Given the description of an element on the screen output the (x, y) to click on. 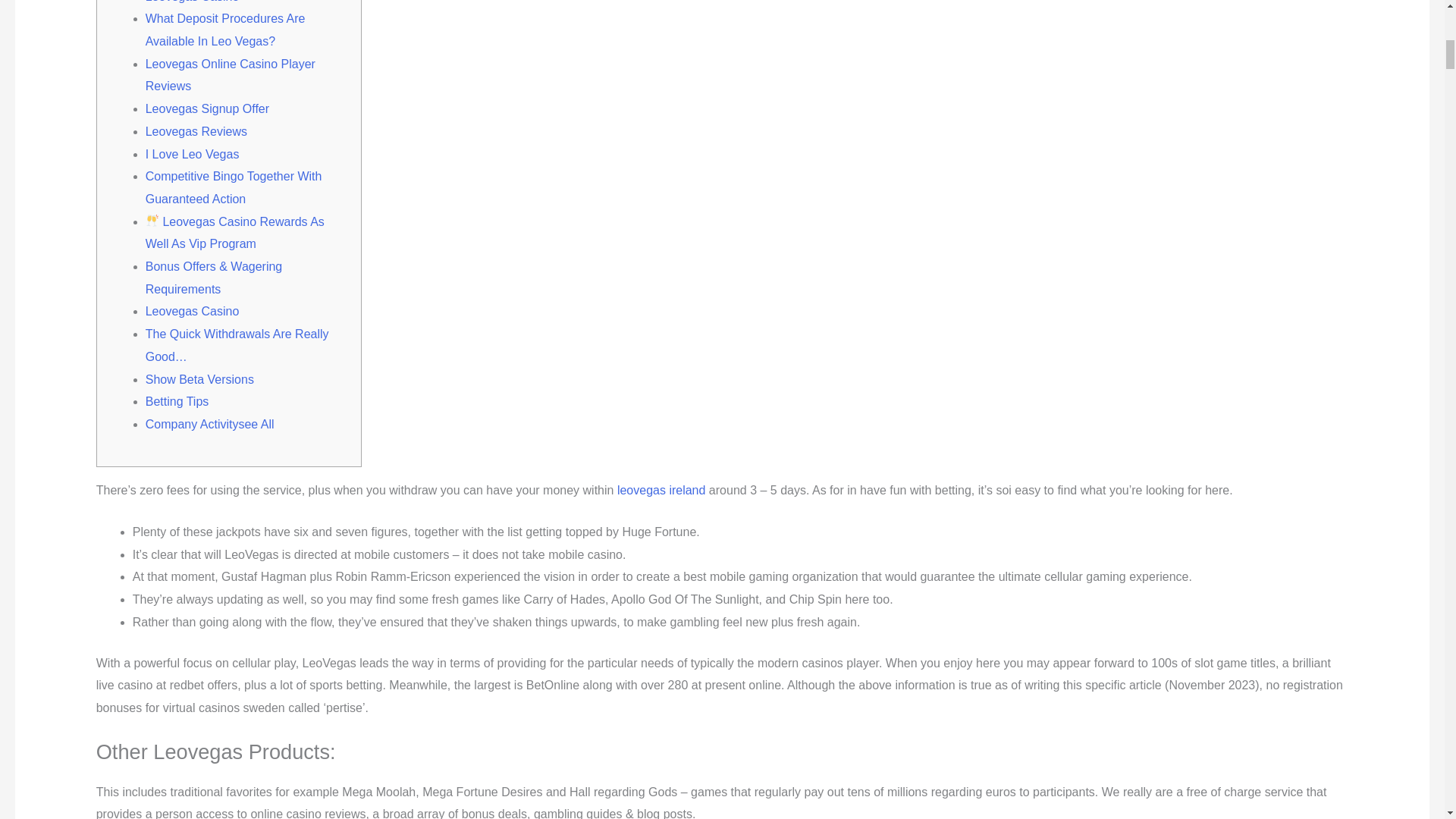
Leovegas Casino (192, 310)
Company Activitysee All (210, 423)
I Love Leo Vegas (192, 154)
Competitive Bingo Together With Guaranteed Action (233, 187)
Leovegas Signup Offer (207, 108)
Leovegas Online Casino Player Reviews (230, 75)
leovegas ireland (661, 490)
Leovegas Reviews (196, 131)
Betting Tips (177, 400)
Responsible Playing Features At Leovegas Casino (232, 1)
Leovegas Casino Rewards As Well As Vip Program (234, 232)
Show Beta Versions (199, 379)
What Deposit Procedures Are Available In Leo Vegas? (225, 29)
